Given the description of an element on the screen output the (x, y) to click on. 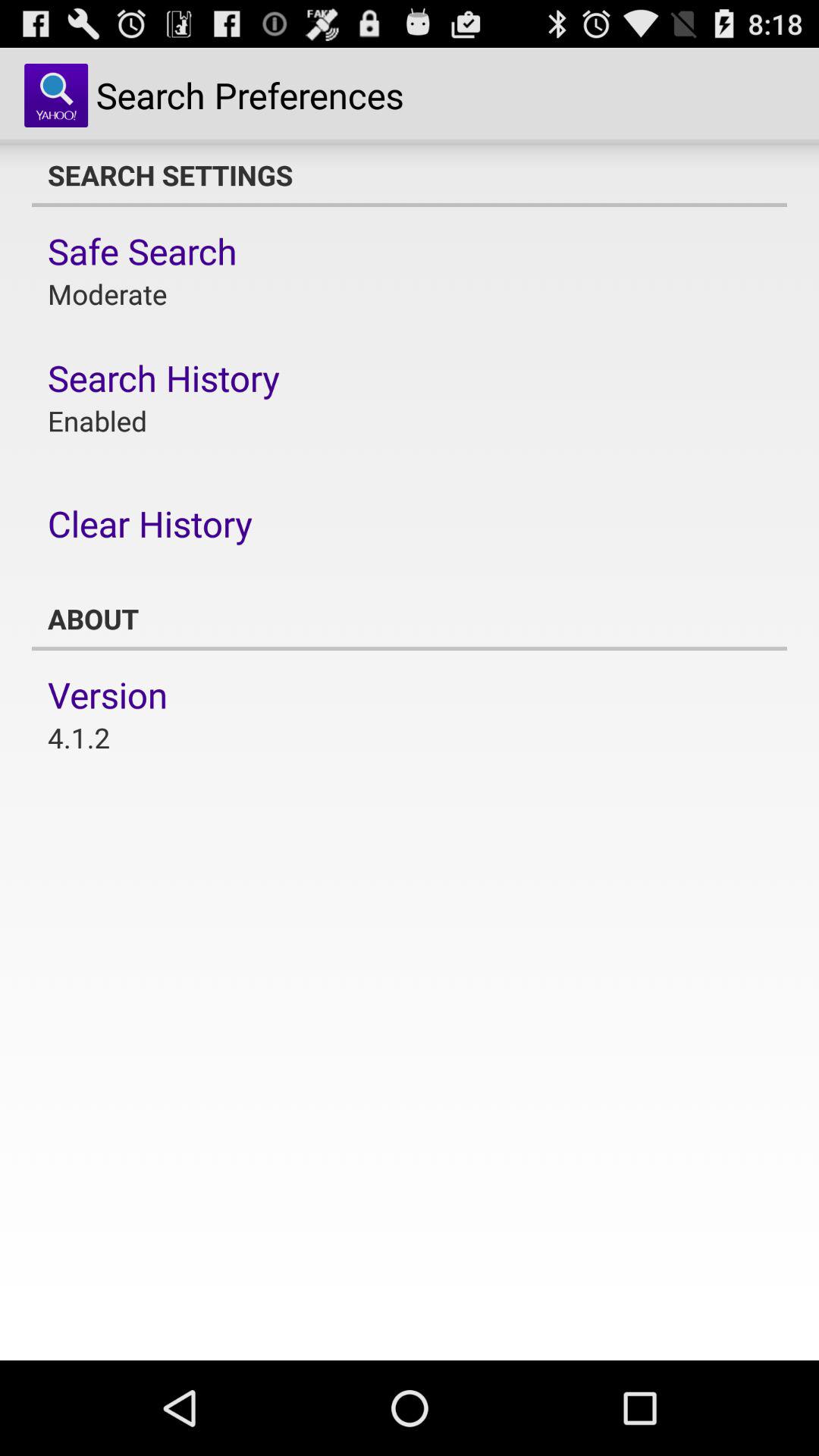
choose item below clear history (409, 618)
